Given the description of an element on the screen output the (x, y) to click on. 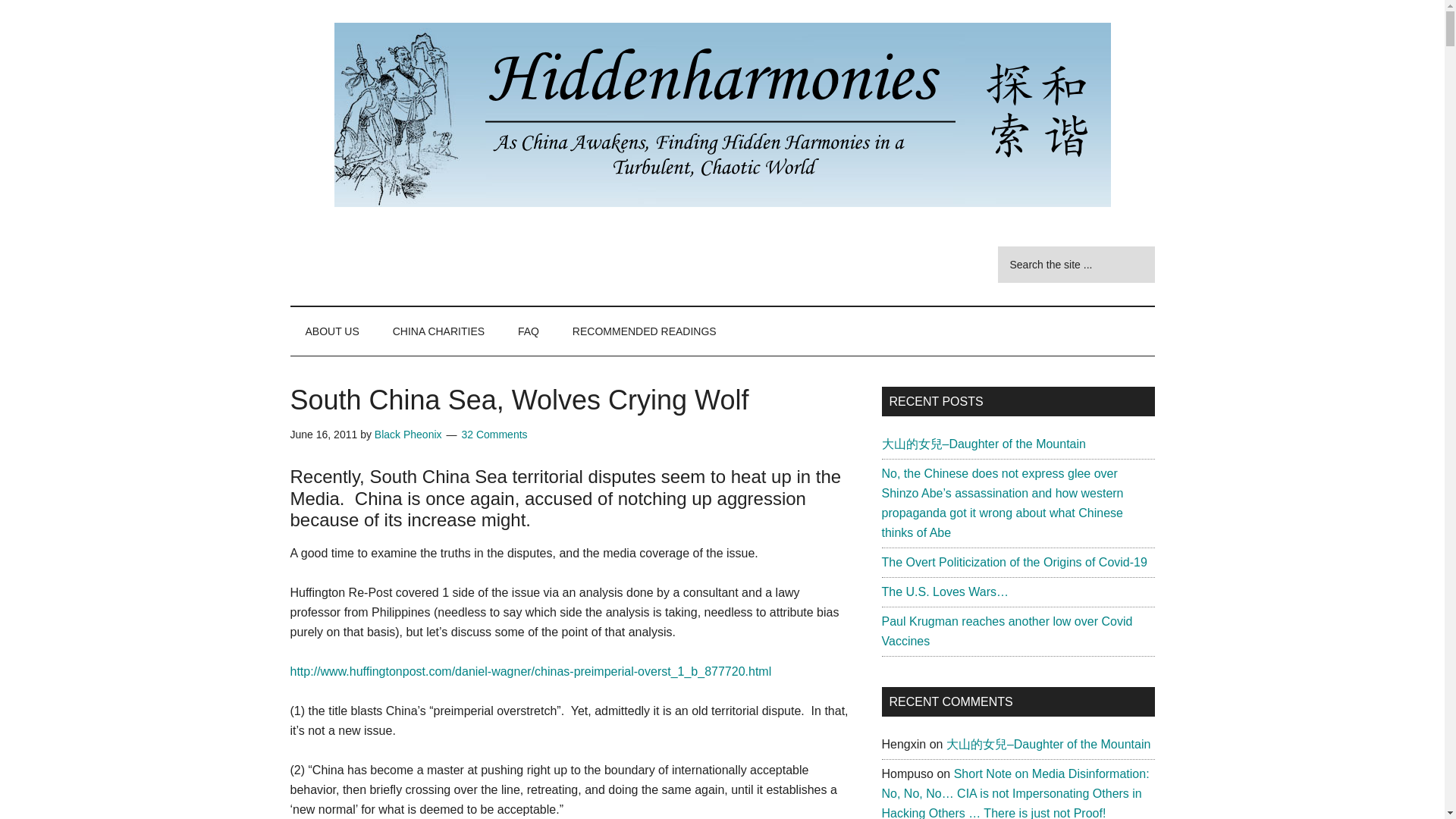
FAQ (528, 331)
Black Pheonix (408, 434)
ABOUT US (331, 331)
32 Comments (494, 434)
RECOMMENDED READINGS (644, 331)
CHINA CHARITIES (438, 331)
